Given the description of an element on the screen output the (x, y) to click on. 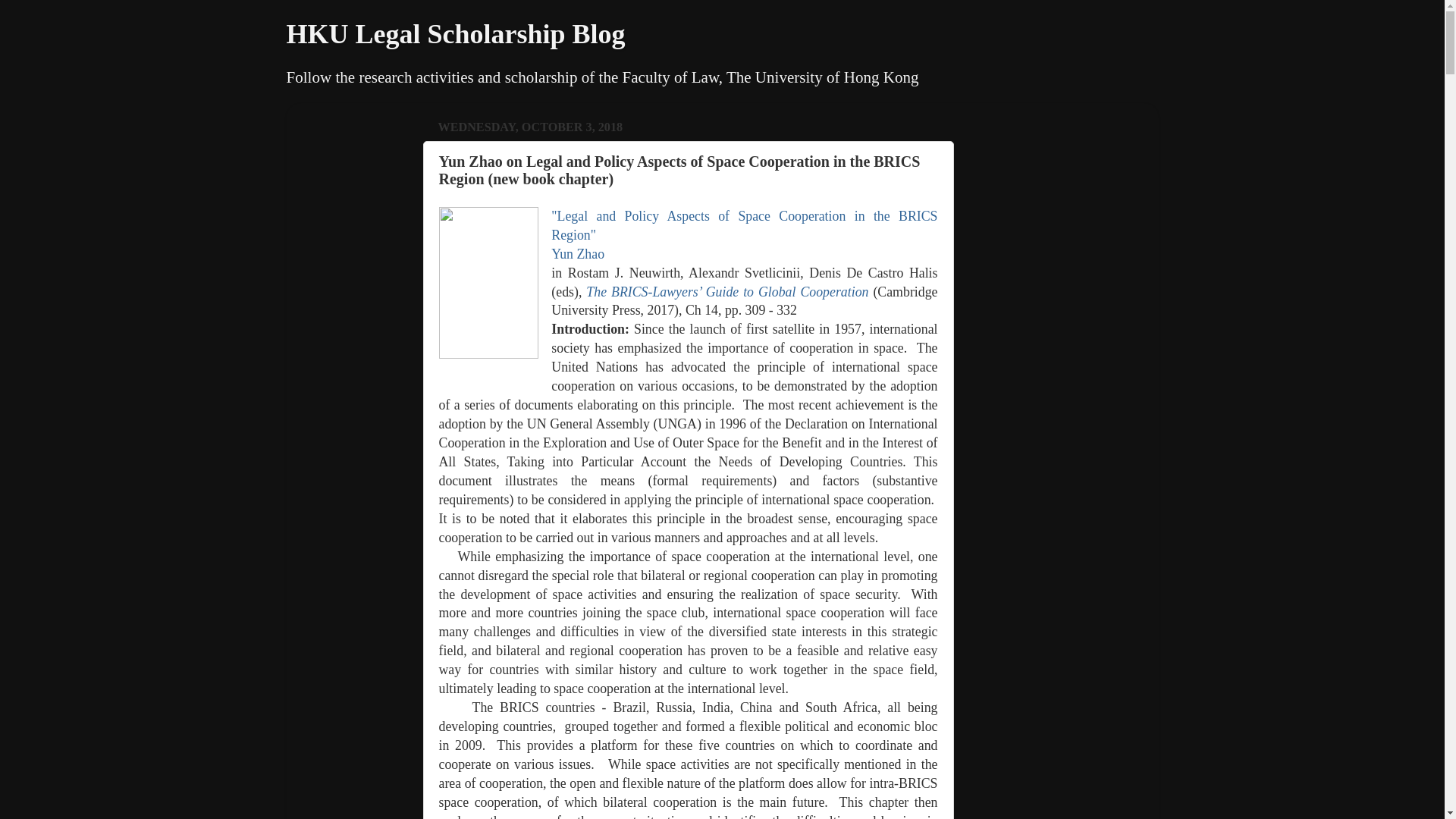
HKU Legal Scholarship Blog (456, 33)
Yun Zhao (577, 253)
